Given the description of an element on the screen output the (x, y) to click on. 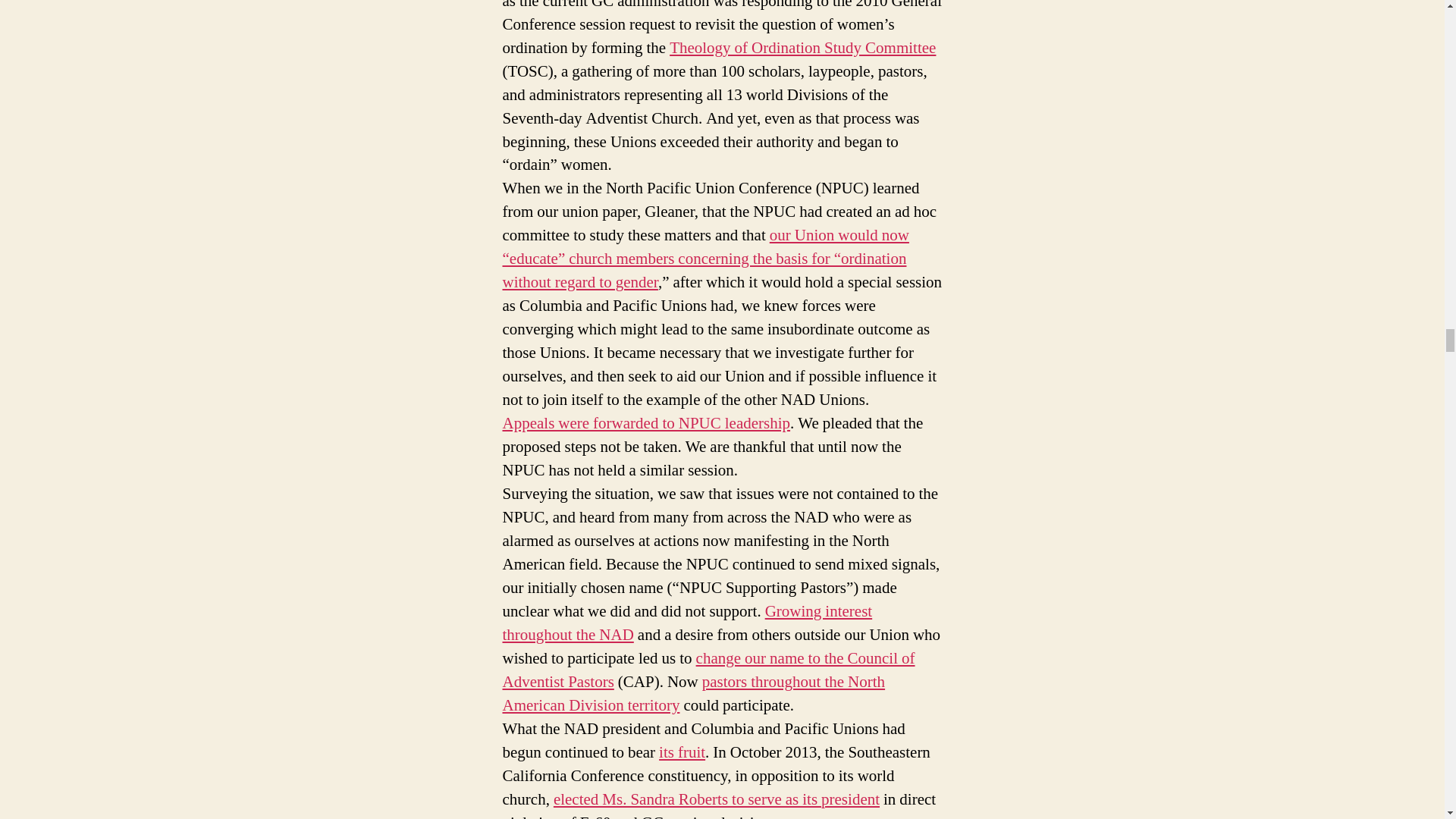
Theology of Ordination Study Committee site (802, 47)
SECC elects woman president (716, 799)
